Given the description of an element on the screen output the (x, y) to click on. 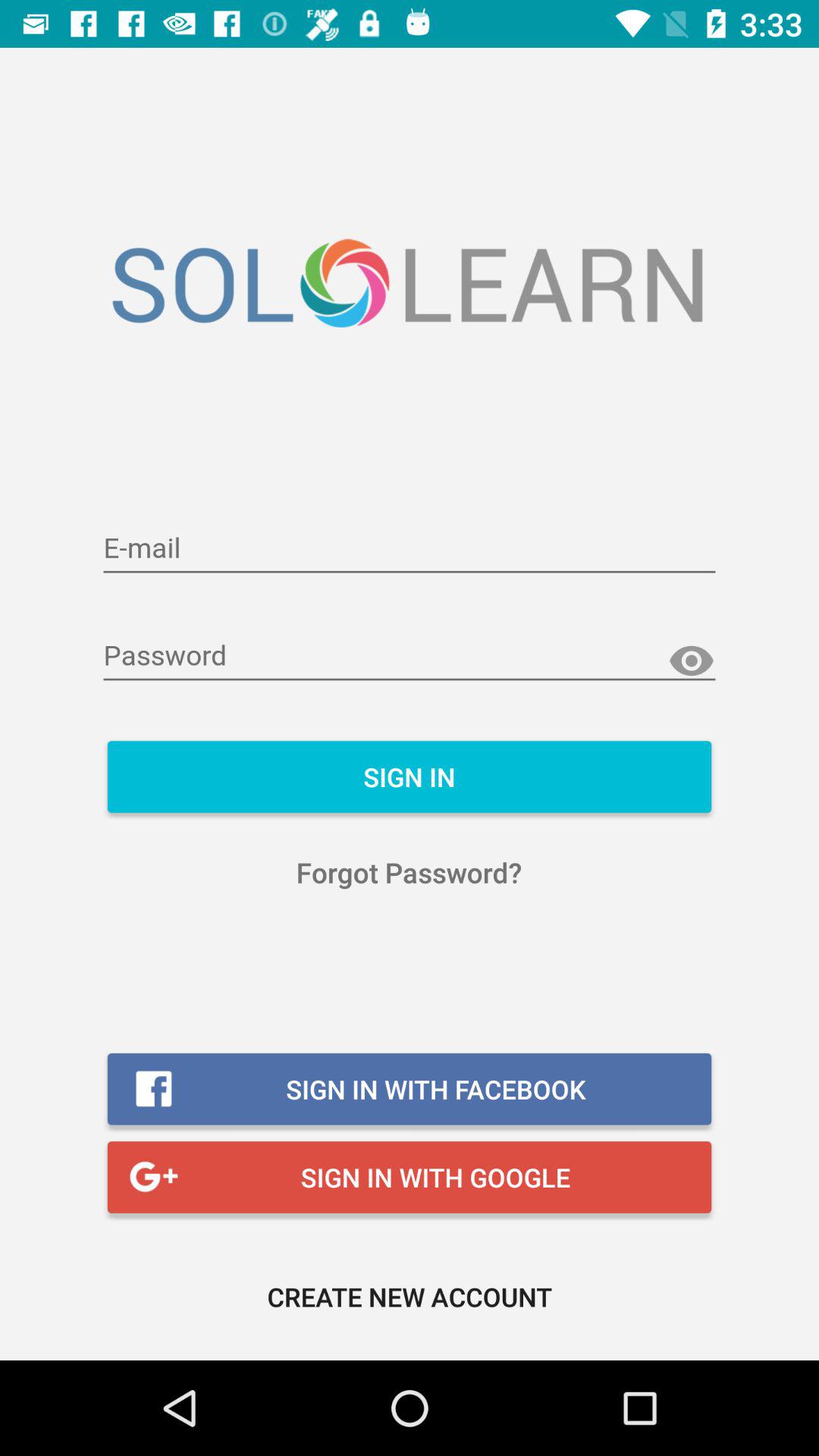
place for enter email id (409, 548)
